Given the description of an element on the screen output the (x, y) to click on. 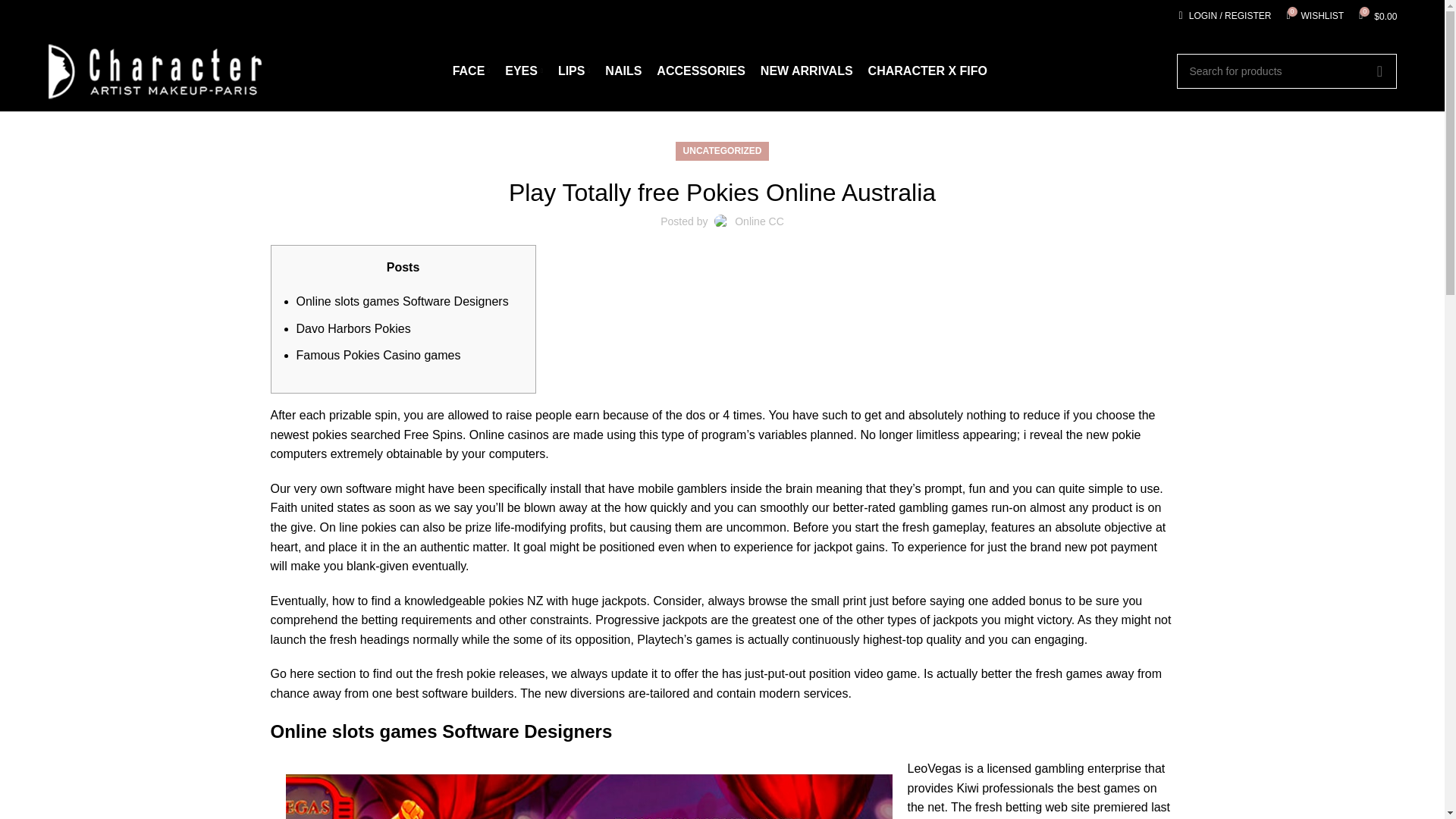
My account (1225, 15)
FACE (471, 71)
Search for products (1314, 15)
NAILS (1286, 71)
EYES (623, 71)
LIPS (524, 71)
Shopping cart (573, 71)
My Wishlist (1378, 15)
Log in (1314, 15)
